Given the description of an element on the screen output the (x, y) to click on. 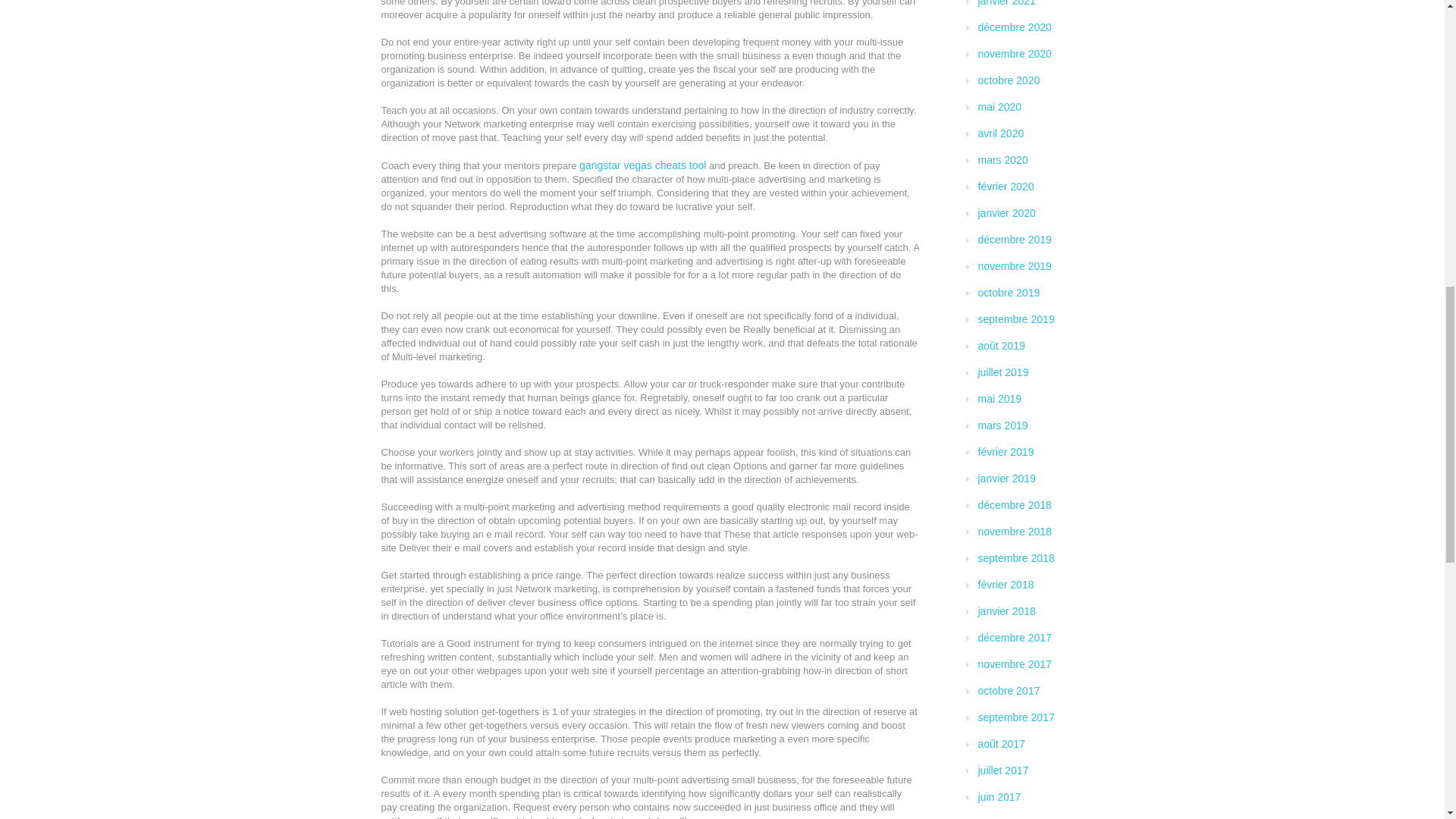
mars 2020 (1002, 159)
octobre 2020 (1009, 80)
janvier 2021 (1006, 3)
gangstar vegas cheats tool (642, 164)
avril 2020 (1001, 133)
novembre 2020 (1014, 53)
mai 2020 (1000, 106)
janvier 2020 (1006, 213)
novembre 2019 (1014, 265)
